Given the description of an element on the screen output the (x, y) to click on. 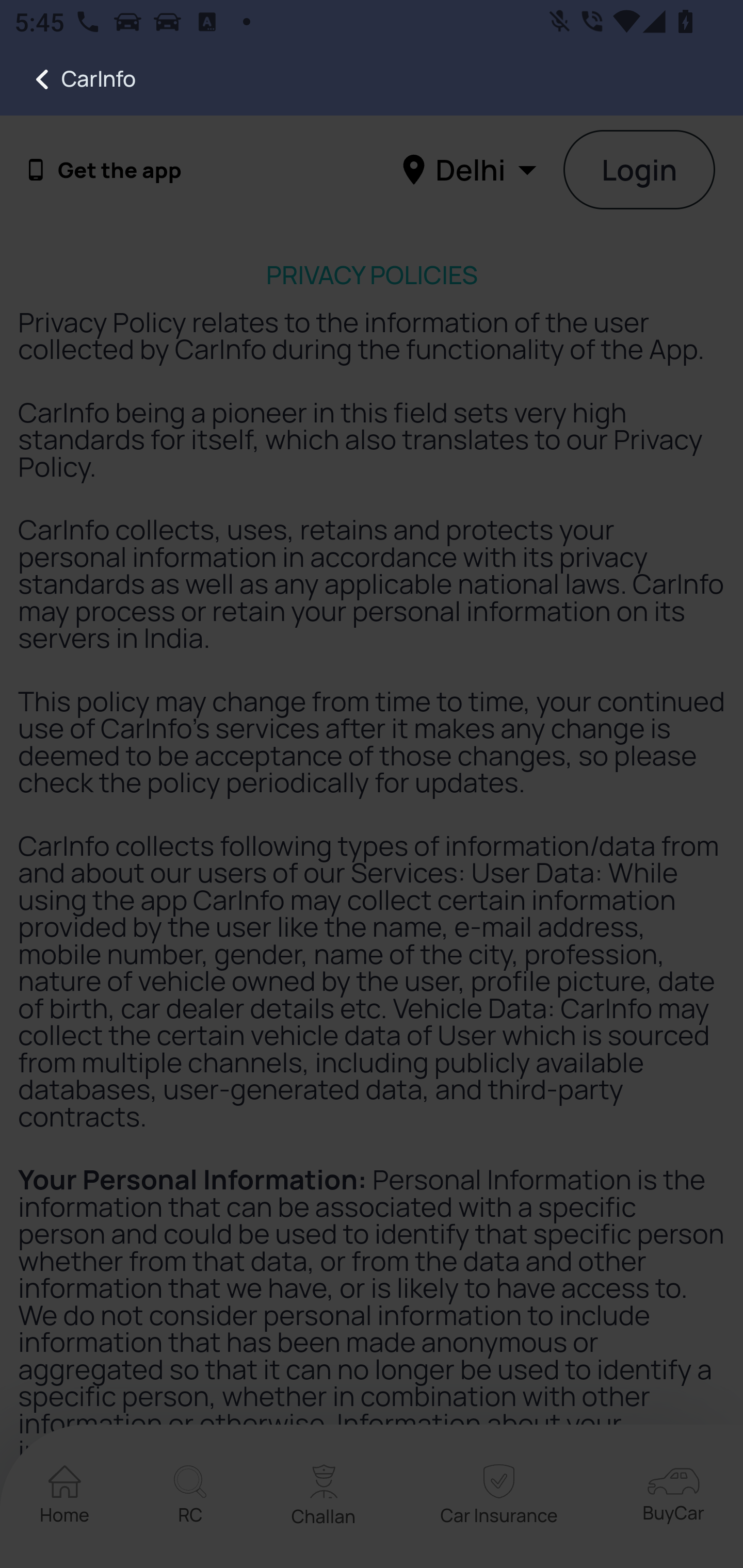
CarInfo (67, 79)
